Given the description of an element on the screen output the (x, y) to click on. 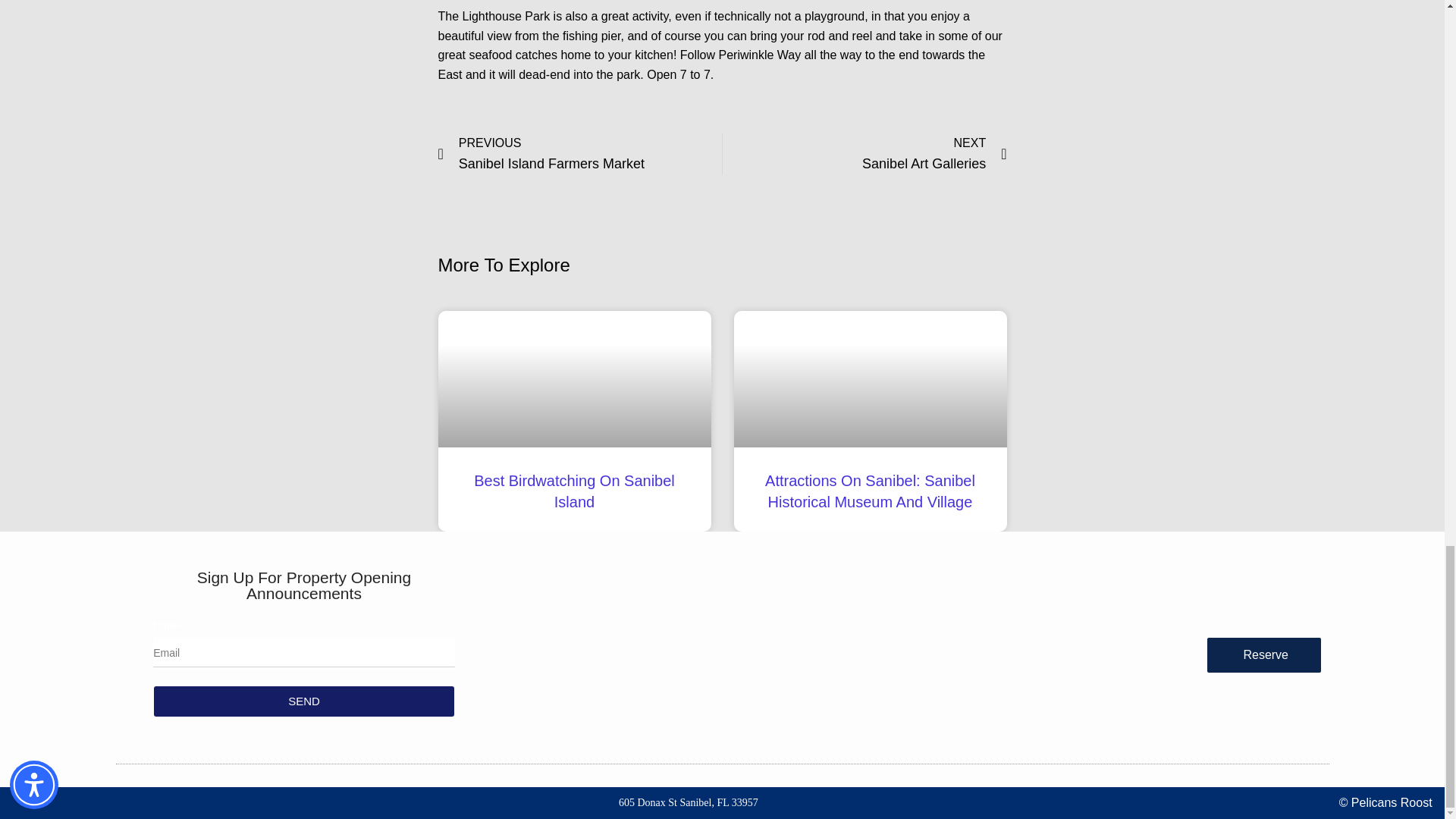
605 Donax St Sanibel, FL 33957 (688, 803)
SEND (864, 154)
Reserve (580, 154)
Best Birdwatching On Sanibel Island (304, 701)
